Given the description of an element on the screen output the (x, y) to click on. 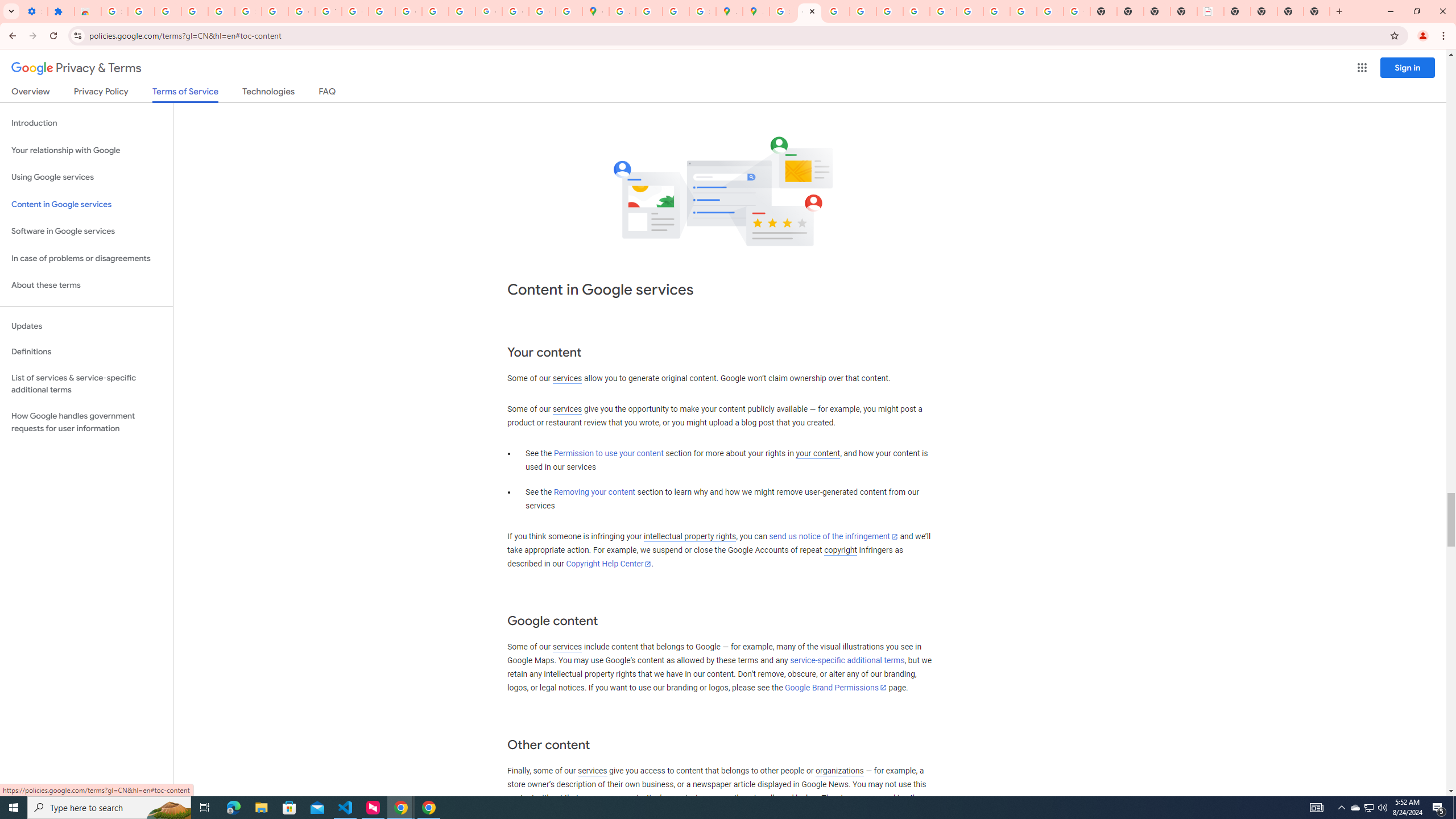
How Google handles government requests for user information (86, 422)
New Tab (1290, 11)
Sign in - Google Accounts (114, 11)
Reviews: Helix Fruit Jump Arcade Game (87, 11)
Google Account (301, 11)
Privacy Help Center - Policies Help (836, 11)
New Tab (1316, 11)
copyright (840, 550)
Software in Google services (86, 230)
